Given the description of an element on the screen output the (x, y) to click on. 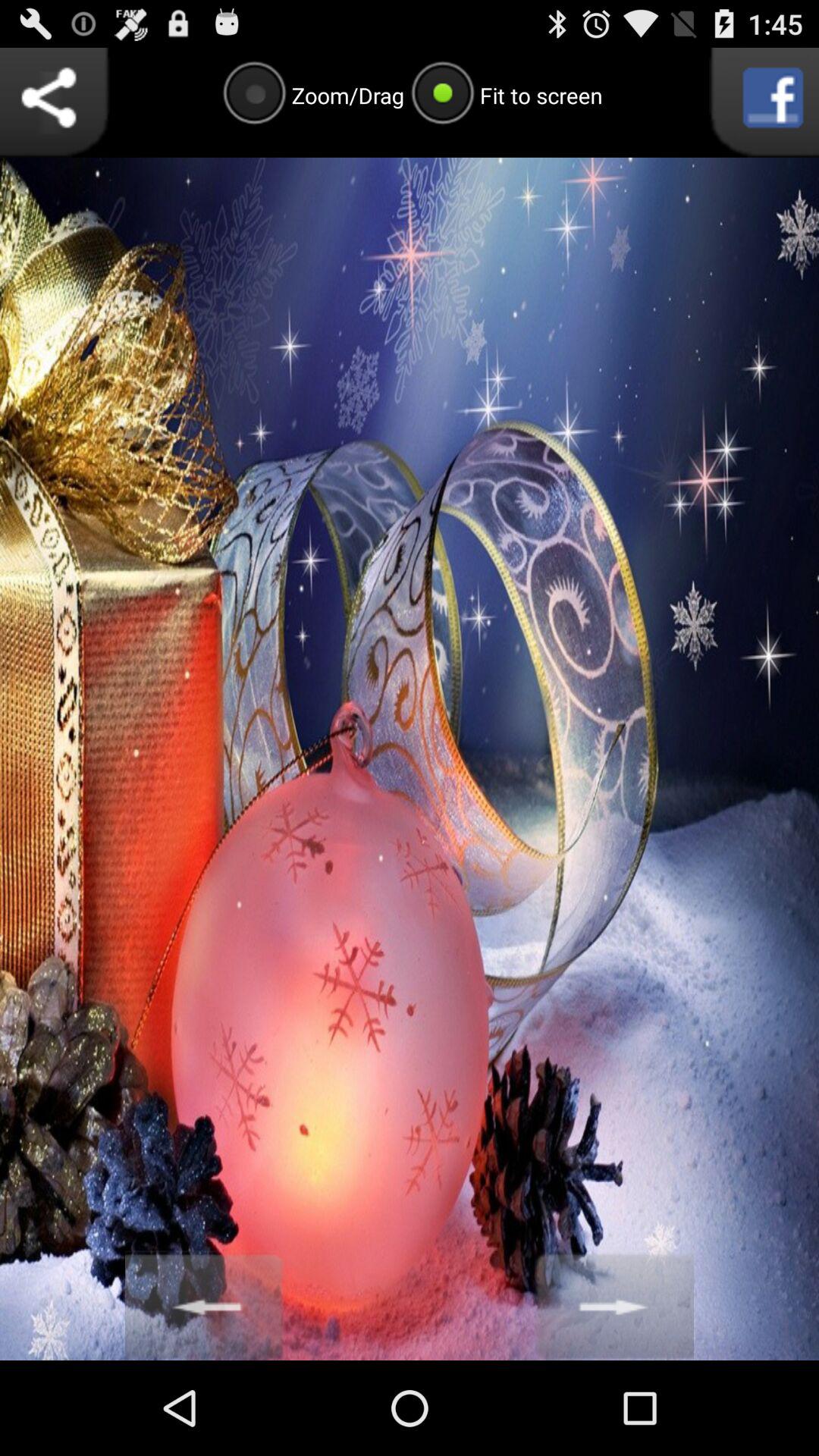
open share menu (54, 102)
